Given the description of an element on the screen output the (x, y) to click on. 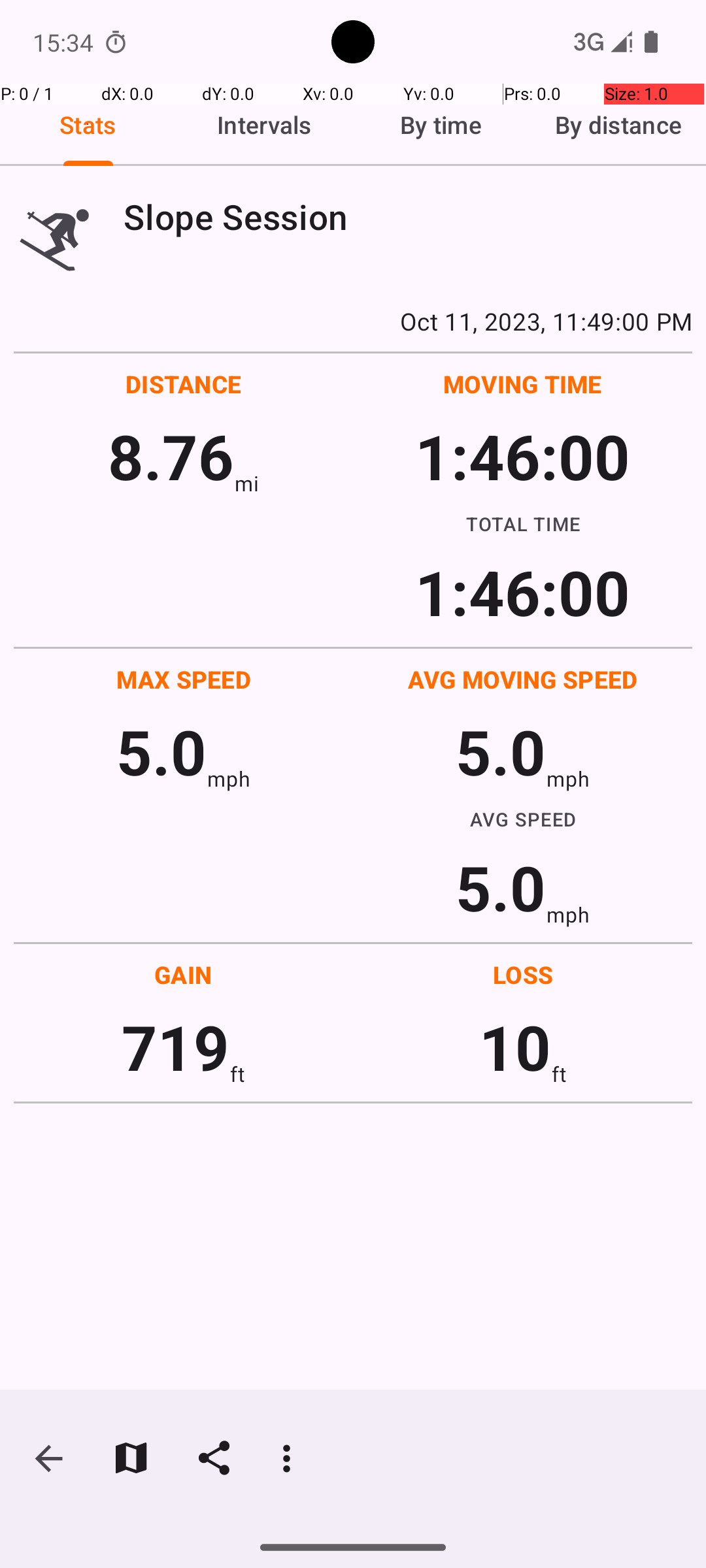
Slope Session Element type: android.widget.TextView (407, 216)
Oct 11, 2023, 11:49:00 PM Element type: android.widget.TextView (352, 320)
8.76 Element type: android.widget.TextView (170, 455)
1:46:00 Element type: android.widget.TextView (522, 455)
5.0 Element type: android.widget.TextView (161, 750)
719 Element type: android.widget.TextView (175, 1045)
